Given the description of an element on the screen output the (x, y) to click on. 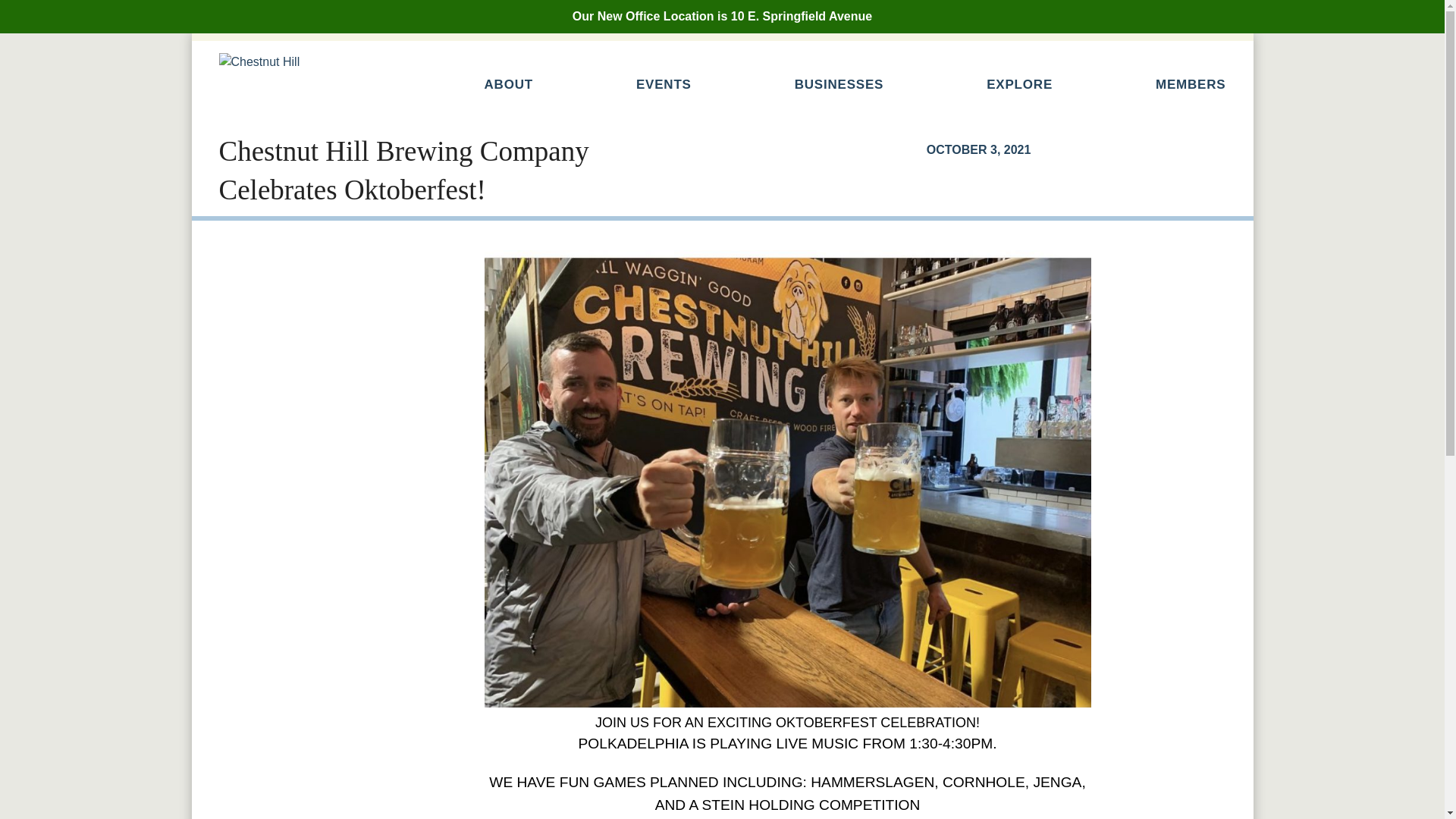
BUSINESSES (838, 84)
EXPLORE (1019, 84)
ABOUT (507, 84)
EVENTS (663, 84)
